Given the description of an element on the screen output the (x, y) to click on. 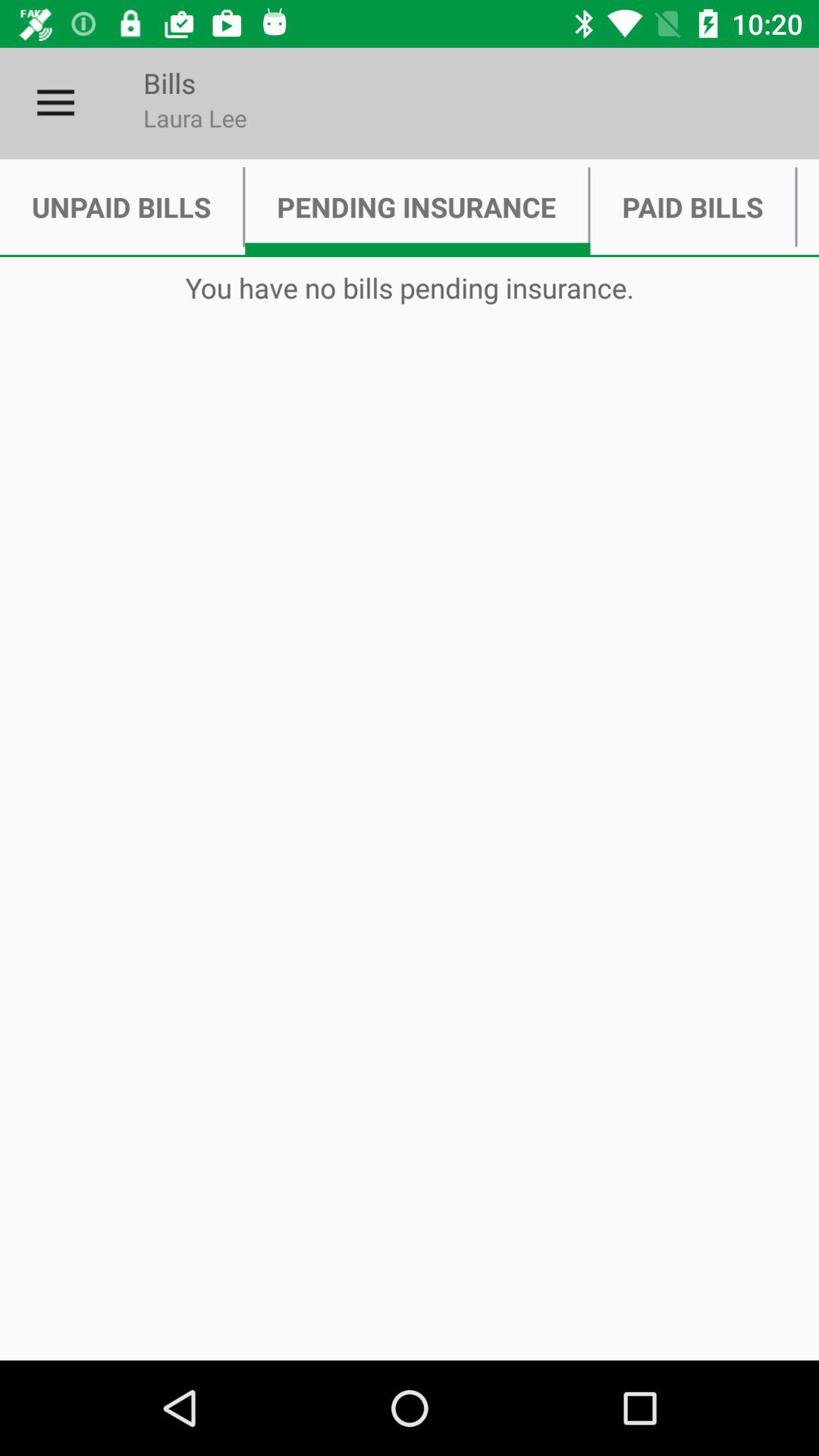
choose icon to the left of the bills icon (55, 103)
